Given the description of an element on the screen output the (x, y) to click on. 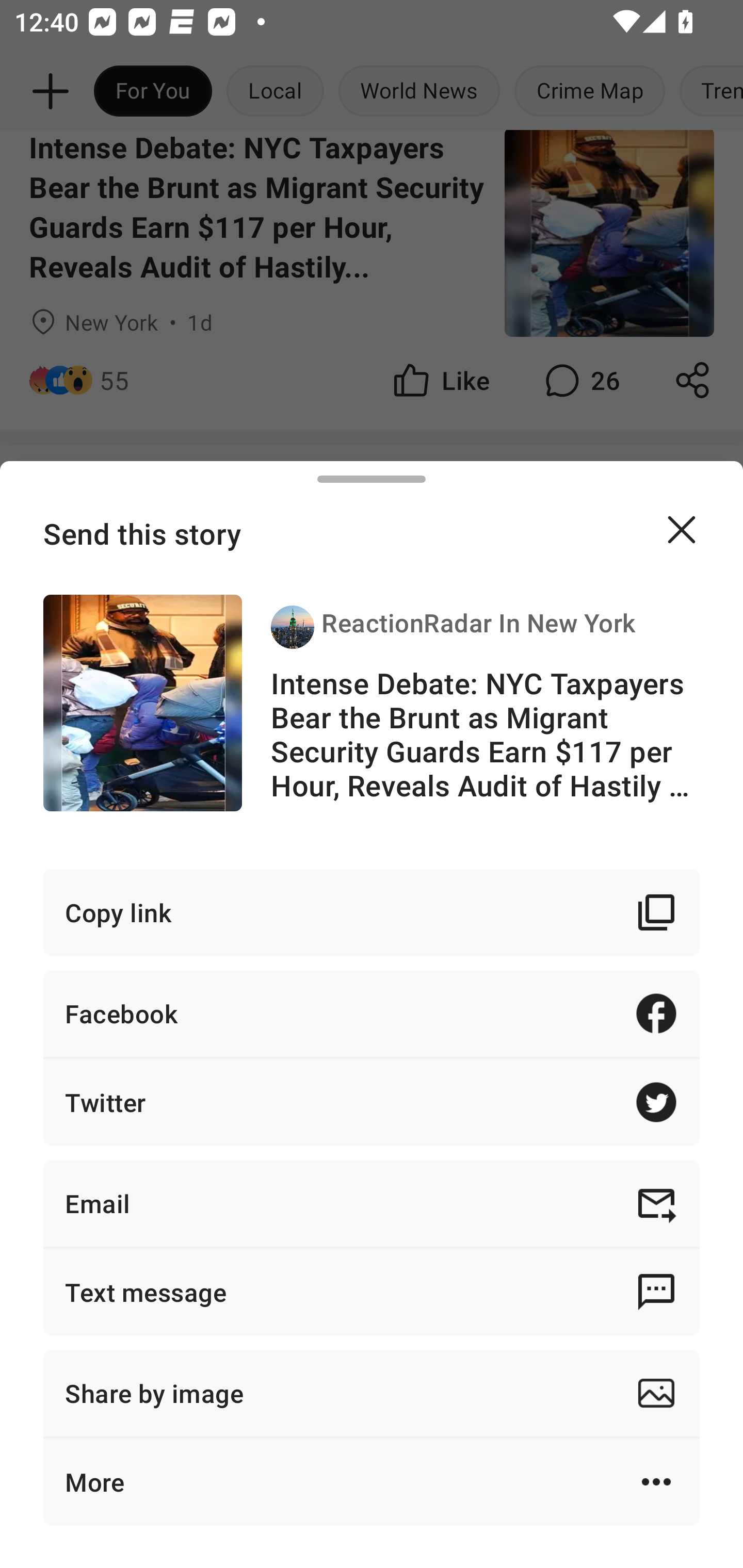
Copy link (371, 912)
Facebook (371, 1013)
Twitter (371, 1102)
Email (371, 1203)
Text message (371, 1291)
Share by image (371, 1393)
More (371, 1481)
